Given the description of an element on the screen output the (x, y) to click on. 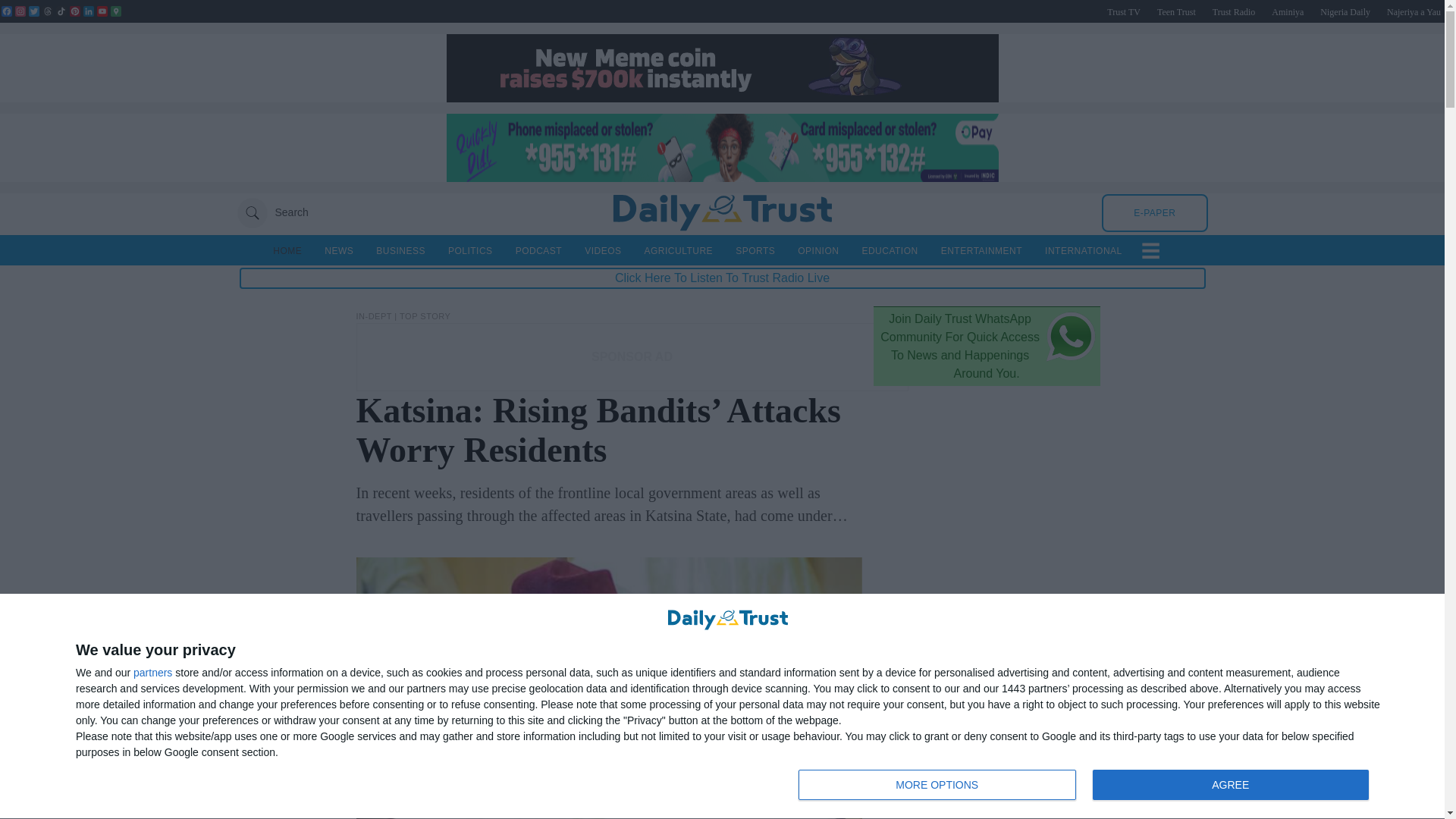
LinkedIn (88, 10)
Threads (47, 10)
AGREE (1230, 784)
Facebook (6, 10)
Trust TV Live (1123, 11)
Top Story (423, 316)
Search (271, 212)
Dailytrust (722, 212)
Trust TV (1123, 11)
Aminiya Online (1287, 11)
Pinterest (74, 10)
partners (152, 672)
E-Paper Subscription (1154, 212)
TikTok (61, 10)
Google Maps (115, 10)
